Given the description of an element on the screen output the (x, y) to click on. 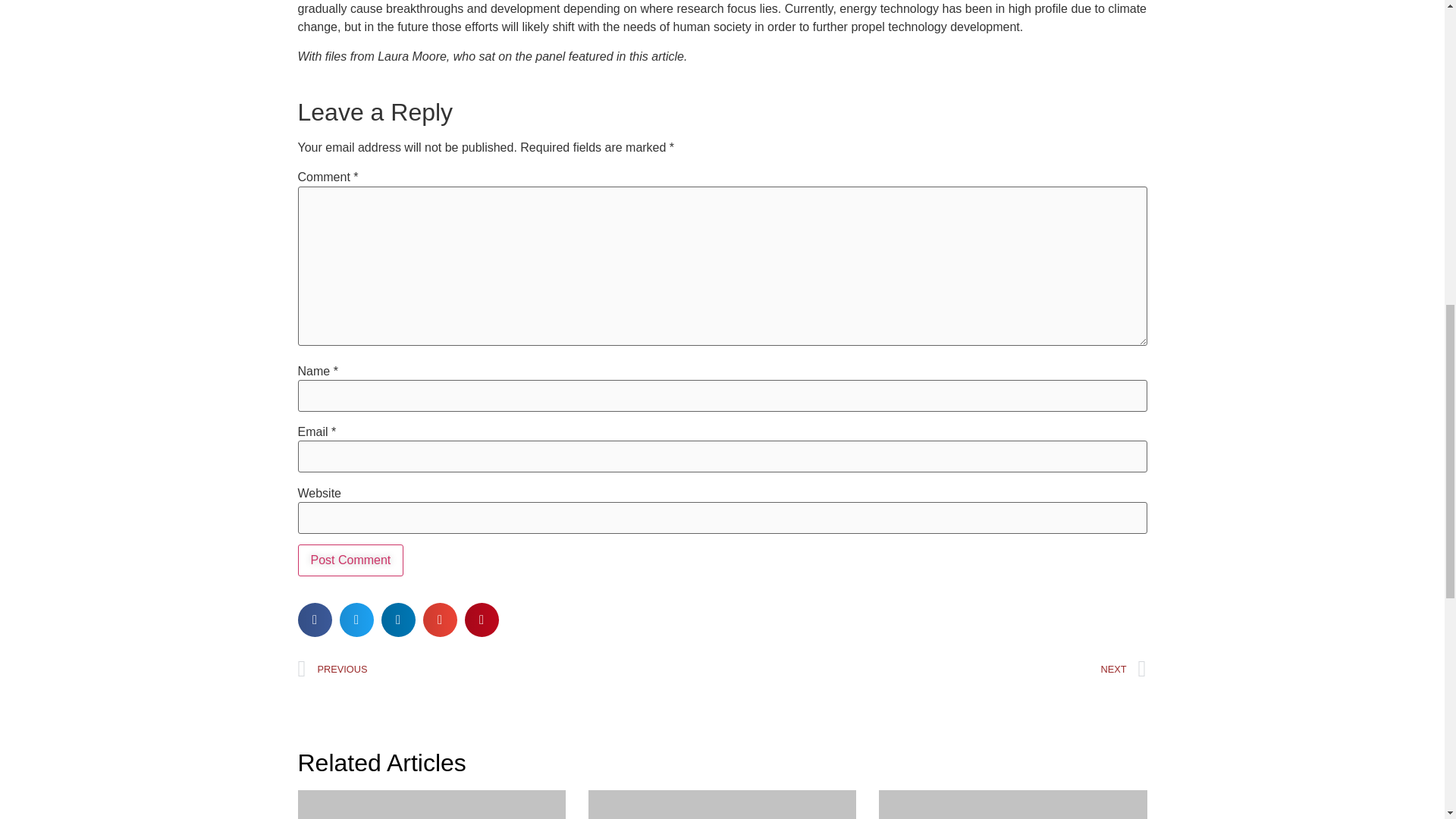
Post Comment (350, 560)
PREVIOUS (509, 668)
NEXT (934, 668)
Post Comment (350, 560)
